Given the description of an element on the screen output the (x, y) to click on. 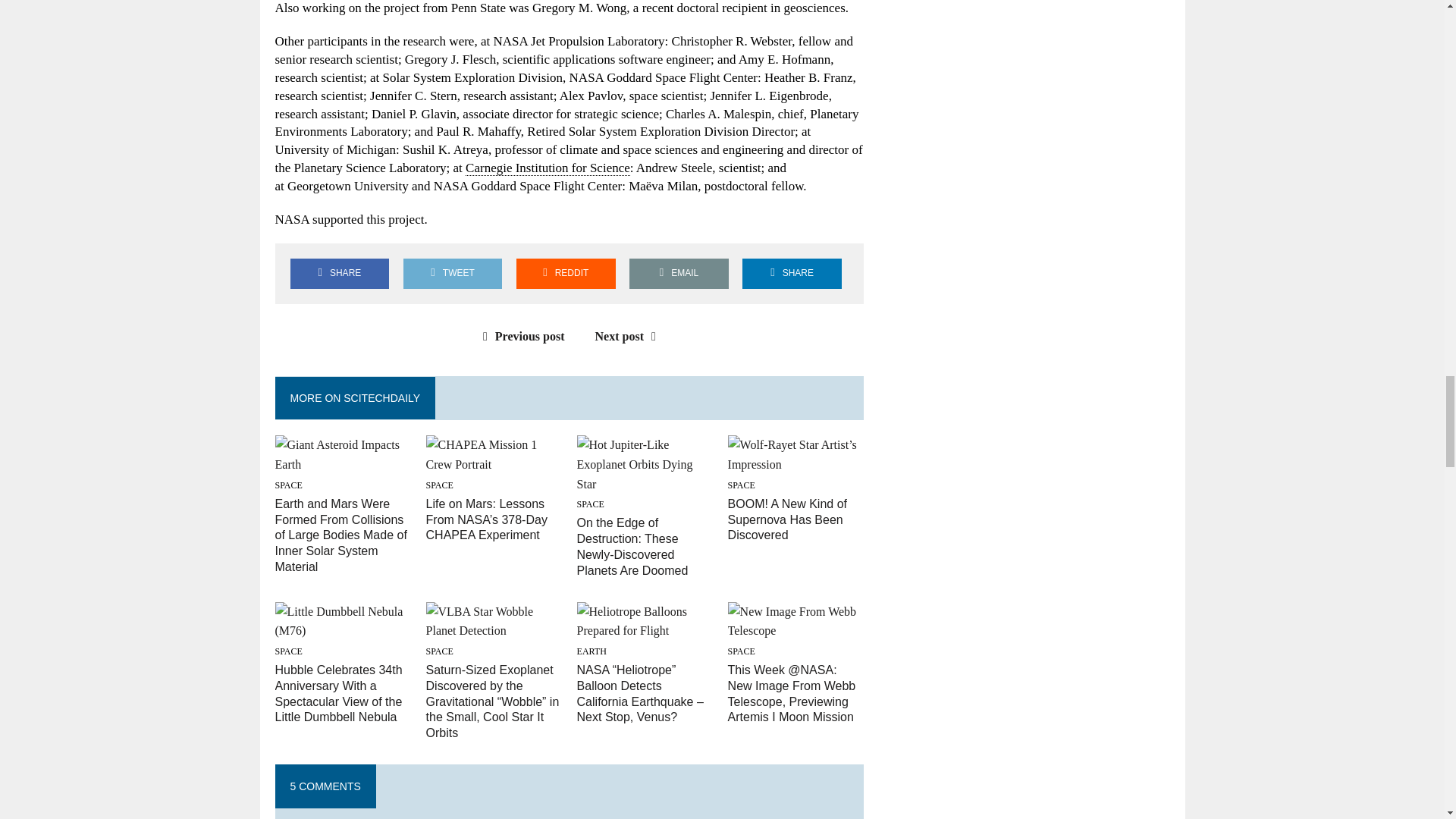
Share on LinkedIn (791, 273)
SHARE (338, 273)
Share on Facebook (338, 273)
Post This Article to Reddit (565, 273)
Tweet This Article (452, 273)
